Given the description of an element on the screen output the (x, y) to click on. 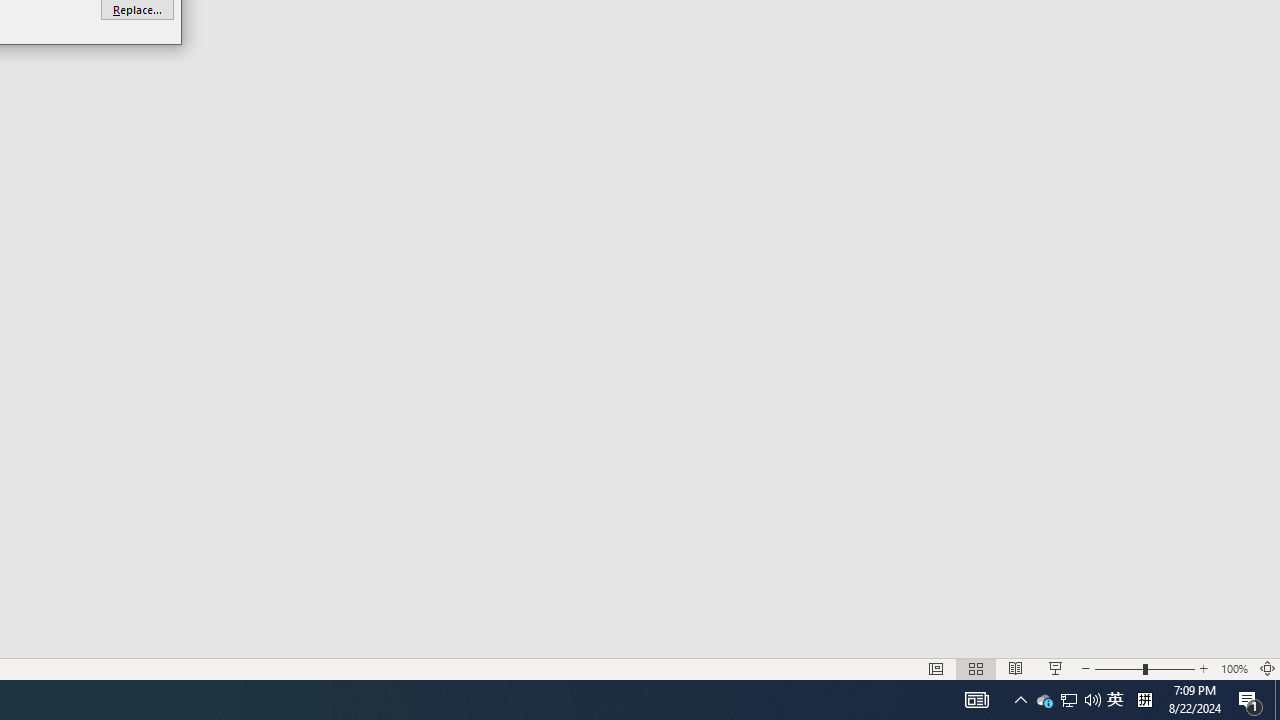
Zoom 100% (1234, 668)
